Given the description of an element on the screen output the (x, y) to click on. 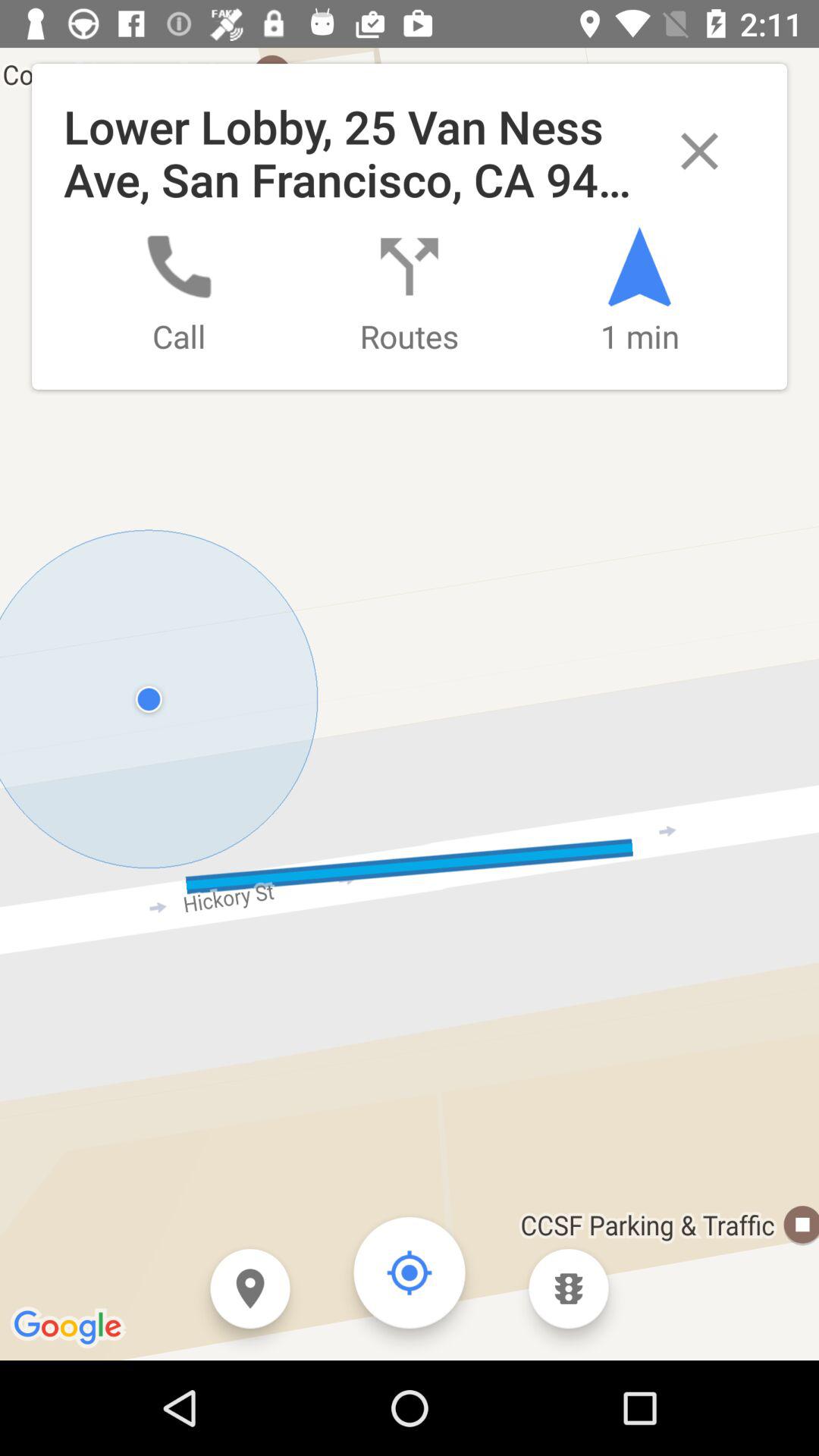
click on the alternative arrows symbol above routes (409, 266)
select the google icon from the bottom left corner of the page (69, 1328)
click on the icon which is on the right side of location pin icon (409, 1273)
click on close option (699, 151)
click on the text lower (409, 227)
select the traffic nearby icon (569, 1289)
